Given the description of an element on the screen output the (x, y) to click on. 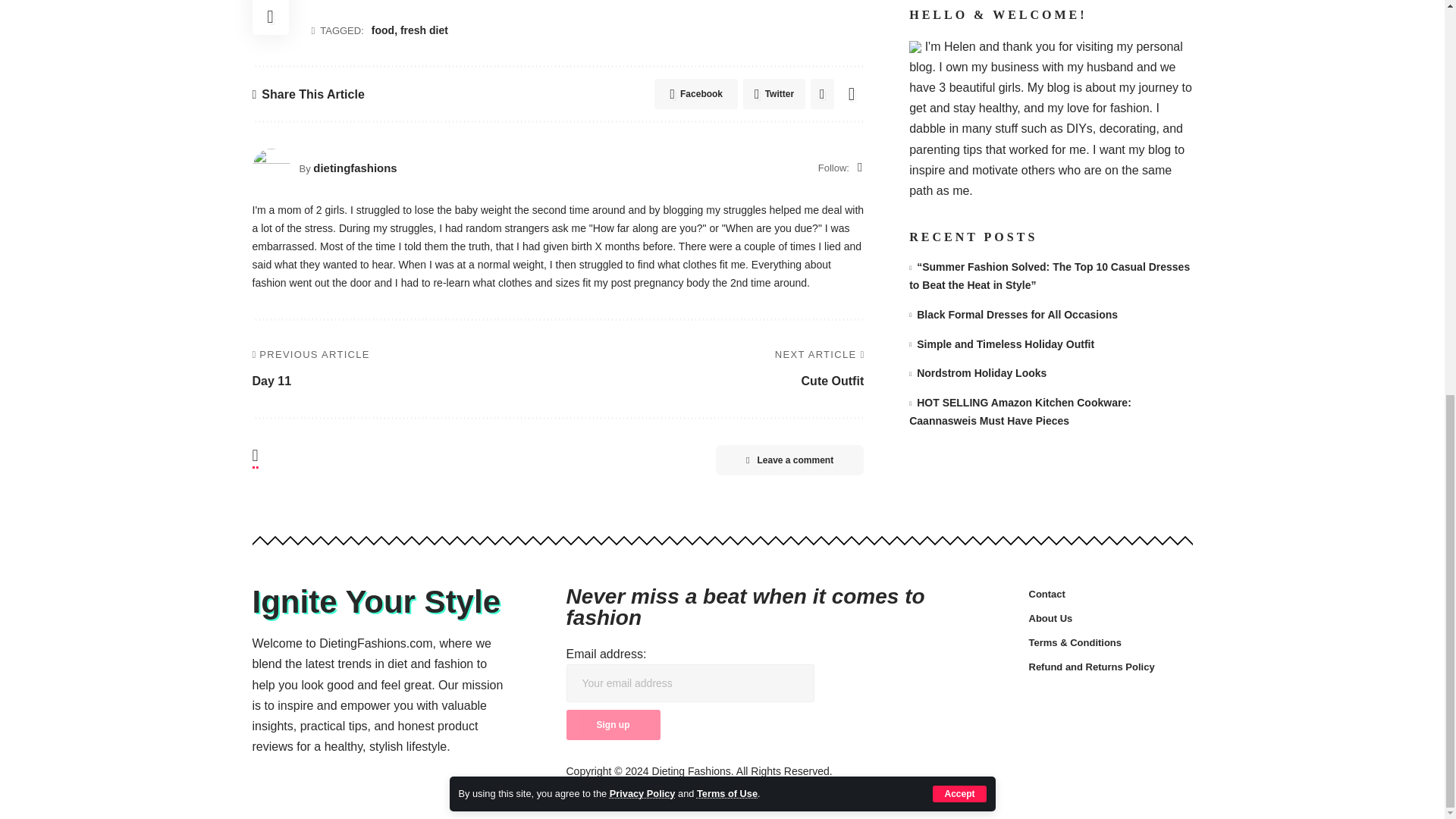
Privacy Policy (642, 30)
Terms of Use (727, 30)
Sign up (612, 725)
Accept (959, 30)
